Given the description of an element on the screen output the (x, y) to click on. 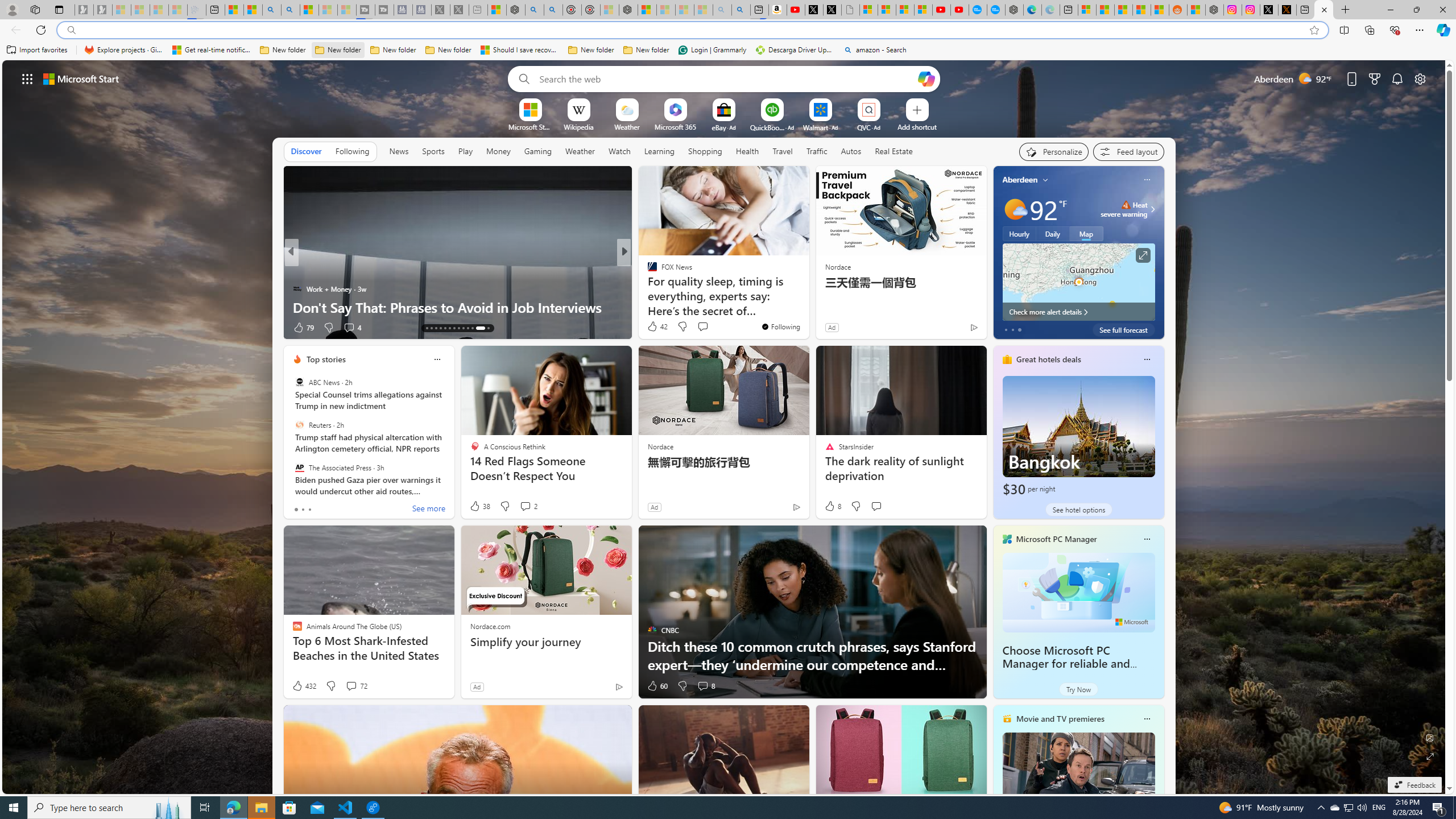
Don't Say That: Phrases to Avoid in Job Interviews (457, 307)
Movie and TV premieres (1060, 718)
tab-2 (309, 509)
BRAINY DOSE (647, 270)
Bangkok (1077, 436)
